Given the description of an element on the screen output the (x, y) to click on. 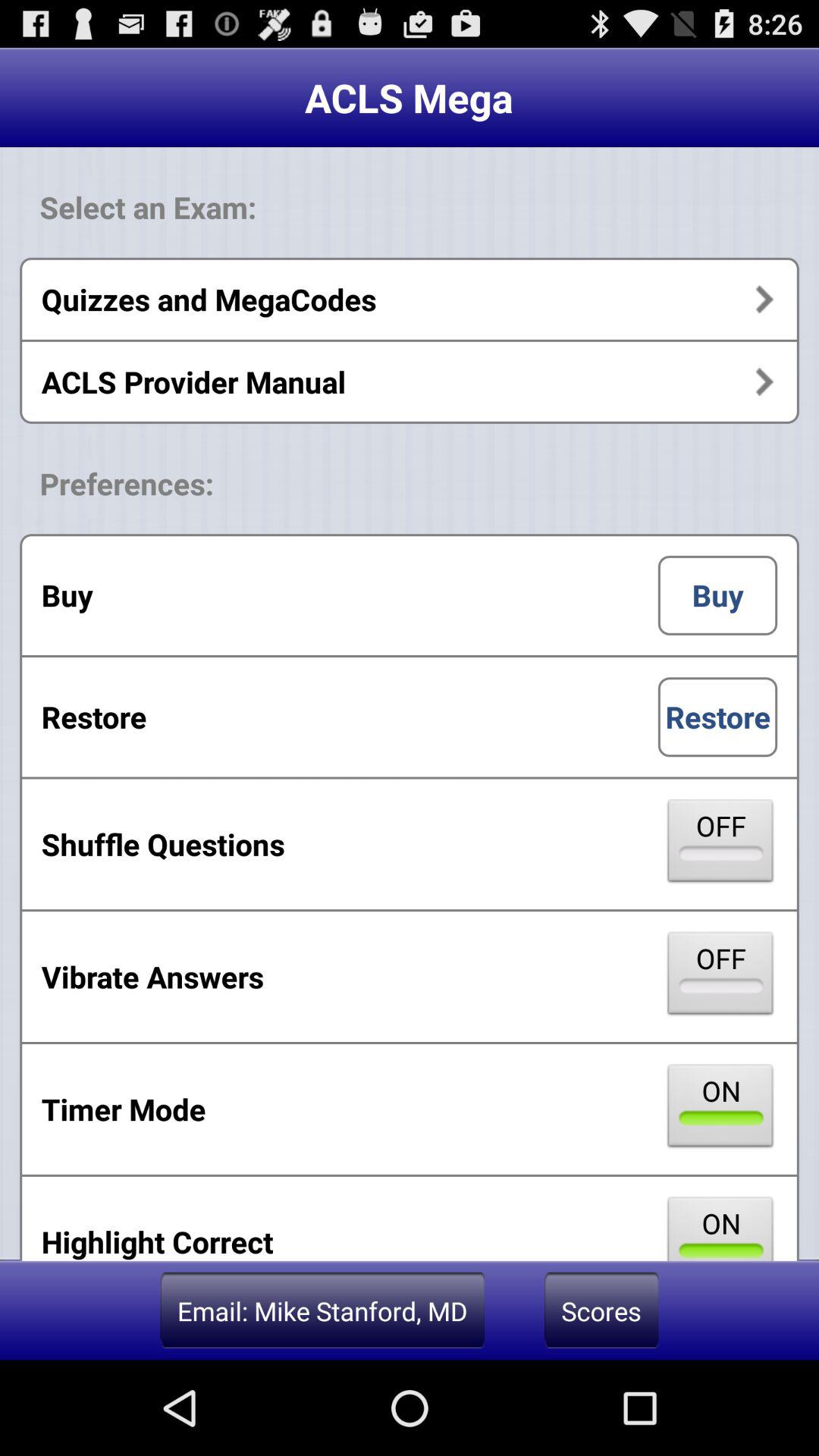
select the icon next to the scores (322, 1310)
